Given the description of an element on the screen output the (x, y) to click on. 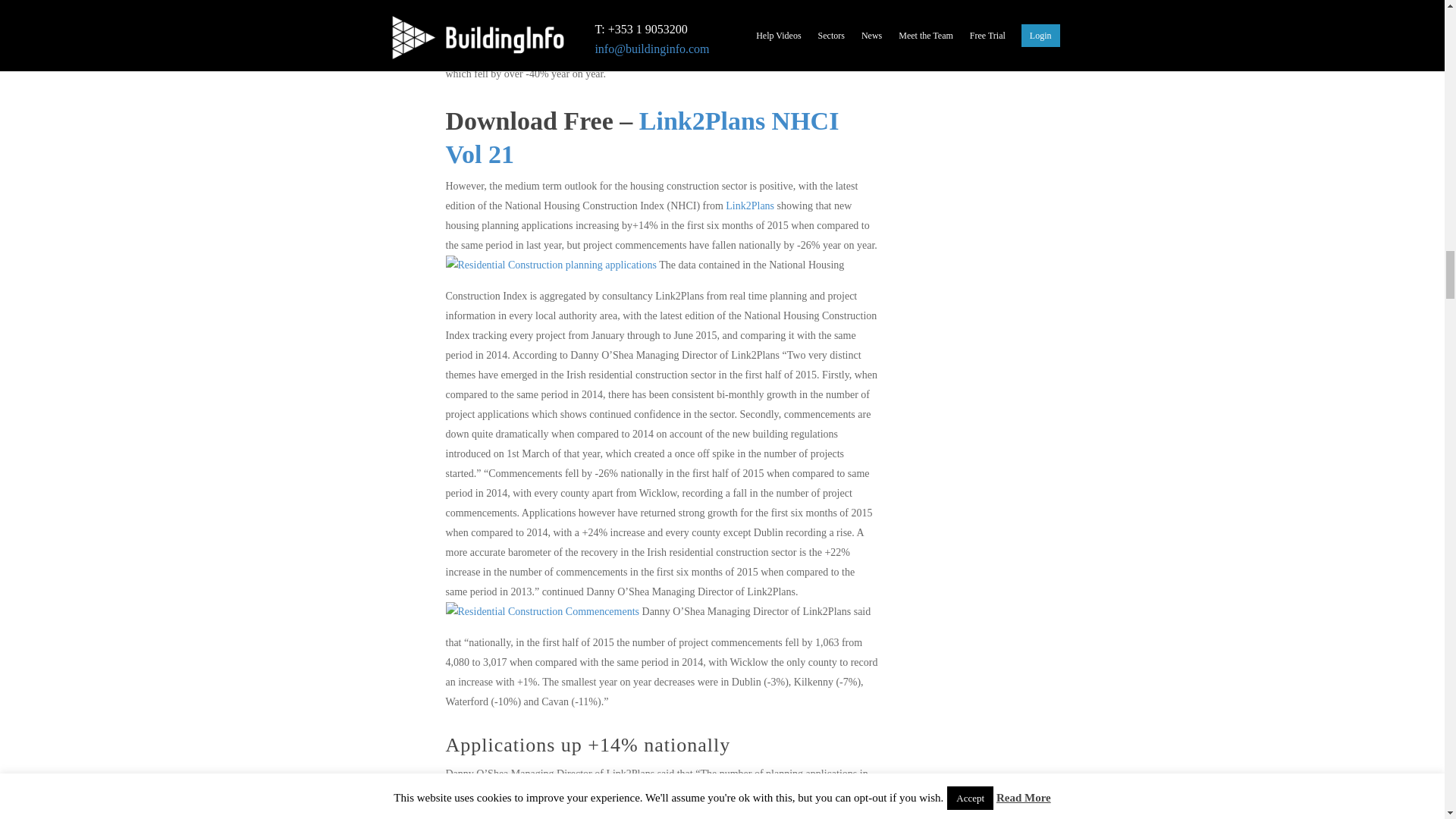
Link2Plans NHCI Vol 21 (642, 137)
Link2Plans (750, 205)
